Given the description of an element on the screen output the (x, y) to click on. 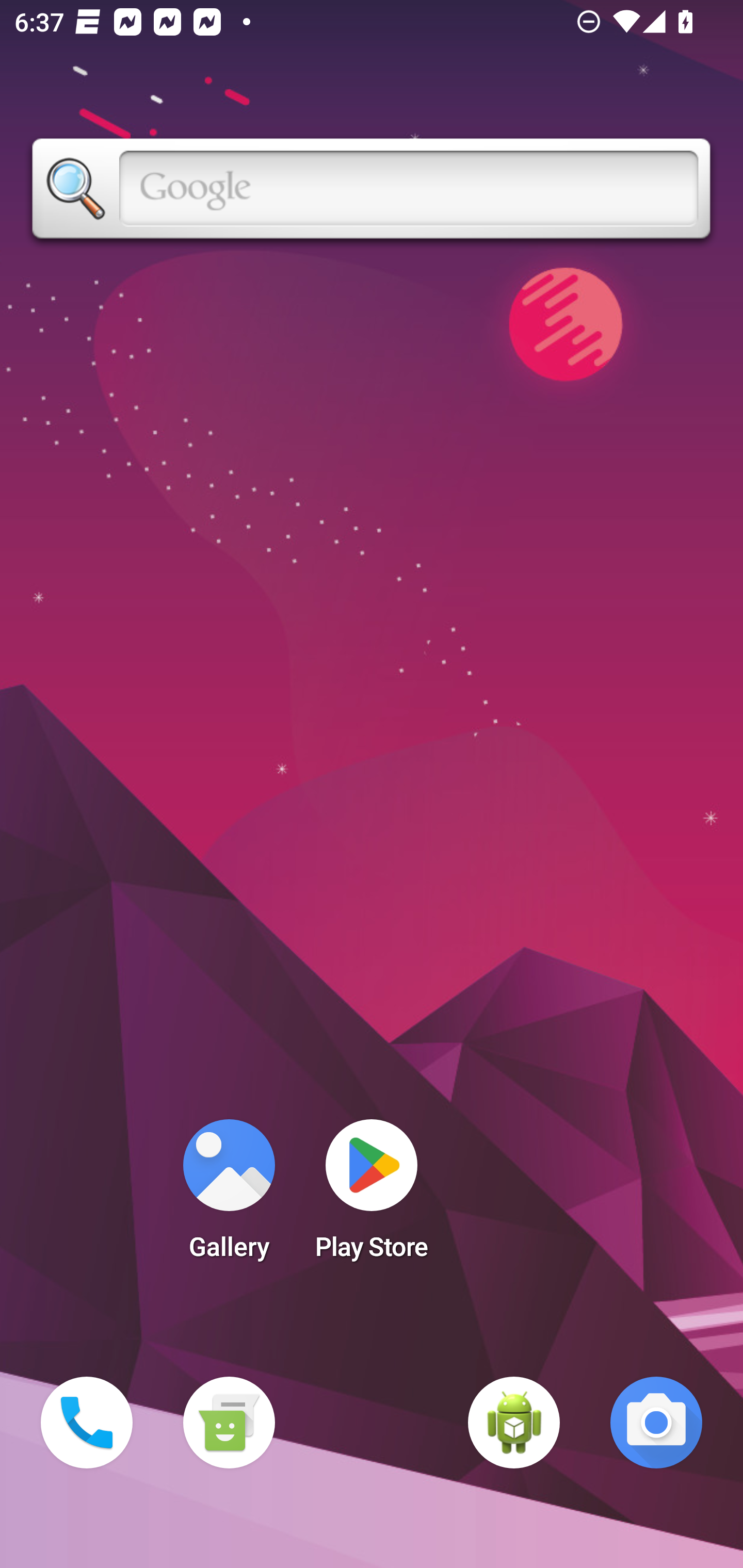
Gallery (228, 1195)
Play Store (371, 1195)
Phone (86, 1422)
Messaging (228, 1422)
WebView Browser Tester (513, 1422)
Camera (656, 1422)
